Given the description of an element on the screen output the (x, y) to click on. 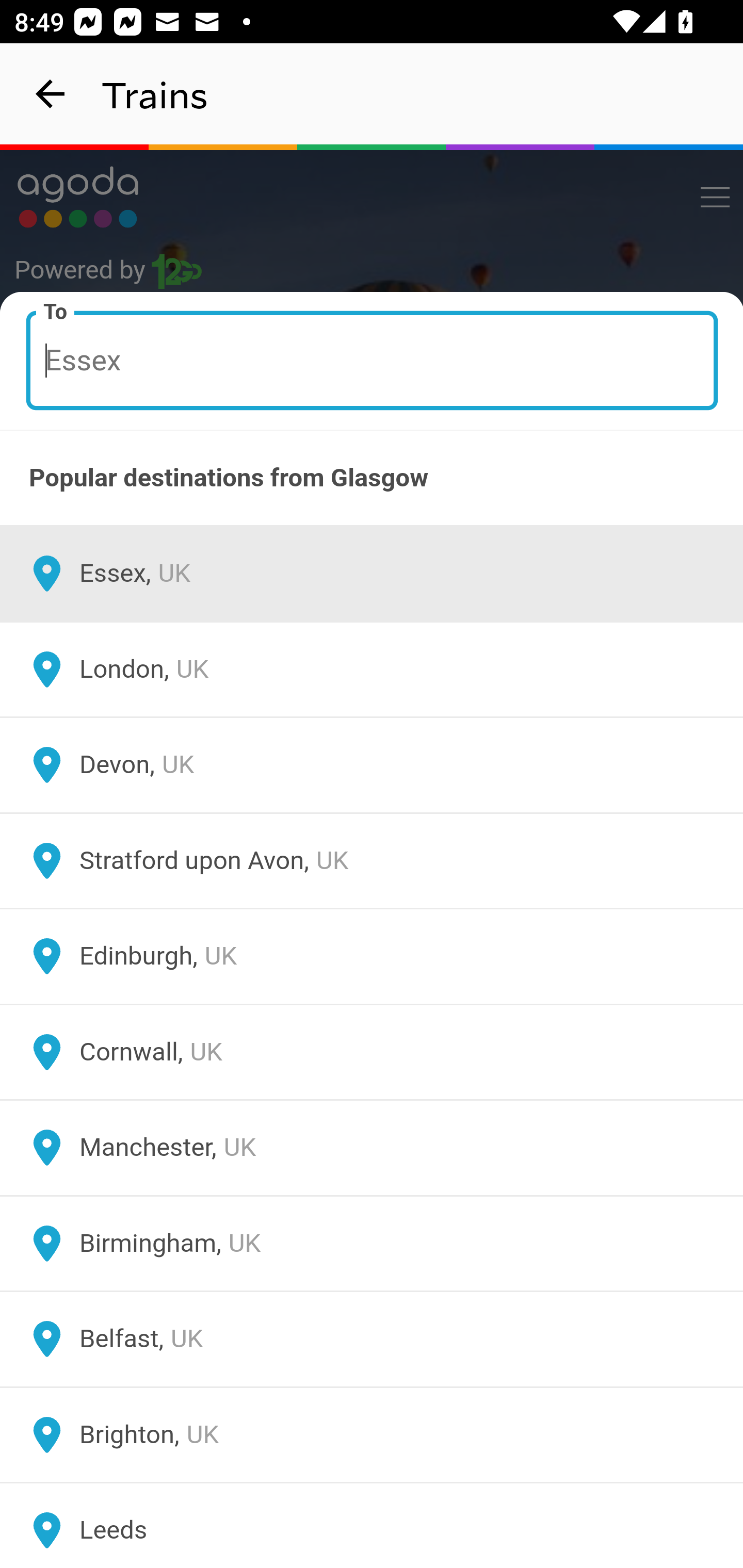
navigation_button (50, 93)
Popular destinations from Glasgow (371, 477)
Essex,UK (371, 573)
London,UK (371, 669)
Devon,UK (371, 764)
Stratford upon Avon,UK (371, 860)
Edinburgh,UK (371, 956)
Cornwall,UK (371, 1051)
Manchester,UK (371, 1147)
Birmingham,UK (371, 1243)
Belfast,UK (371, 1339)
Brighton,UK (371, 1434)
Leeds (371, 1524)
